Given the description of an element on the screen output the (x, y) to click on. 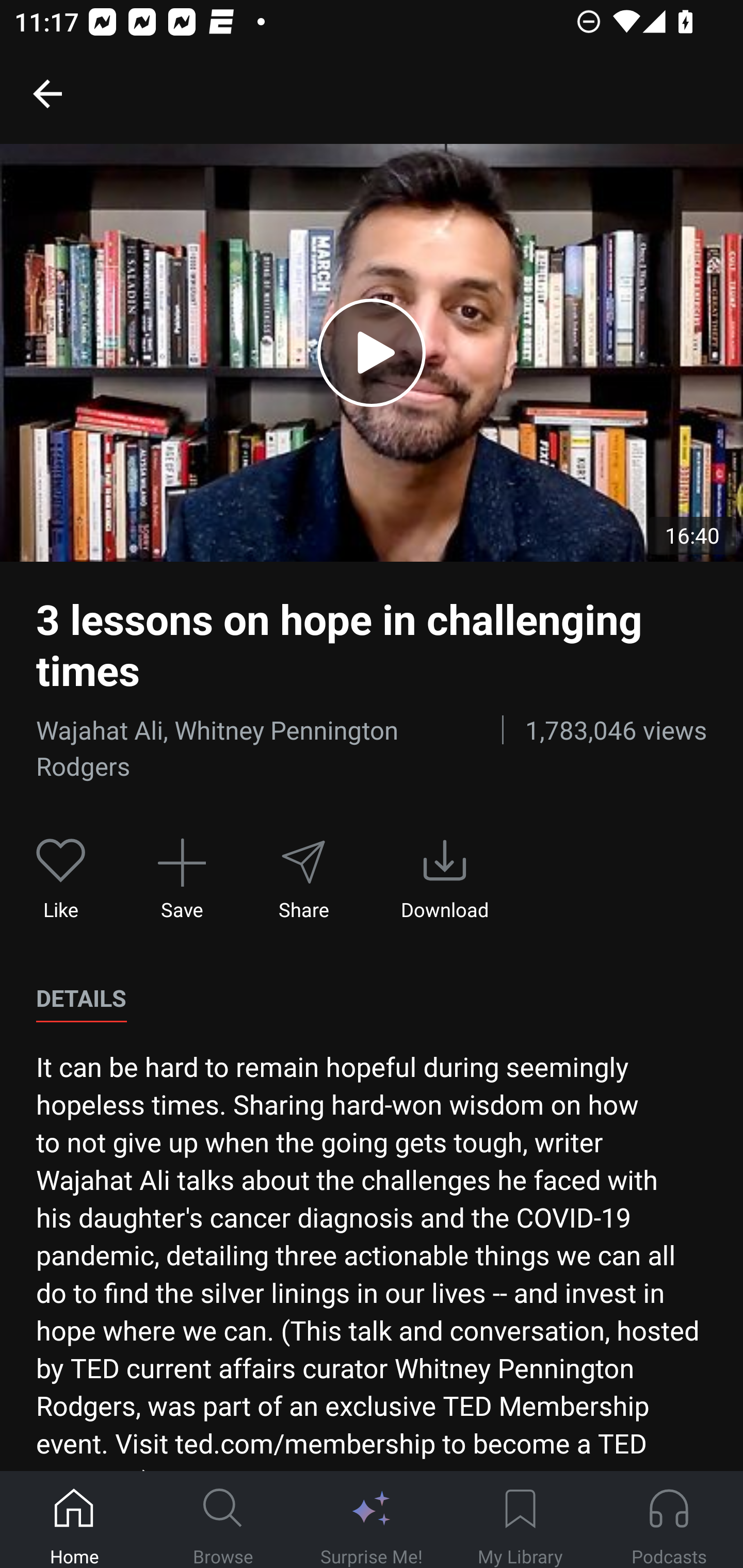
Go back (47, 92)
Like (60, 879)
Save (181, 879)
Share (302, 879)
Download (444, 879)
DETAILS (80, 998)
Home (74, 1520)
Browse (222, 1520)
Surprise Me! (371, 1520)
My Library (519, 1520)
Podcasts (668, 1520)
